Given the description of an element on the screen output the (x, y) to click on. 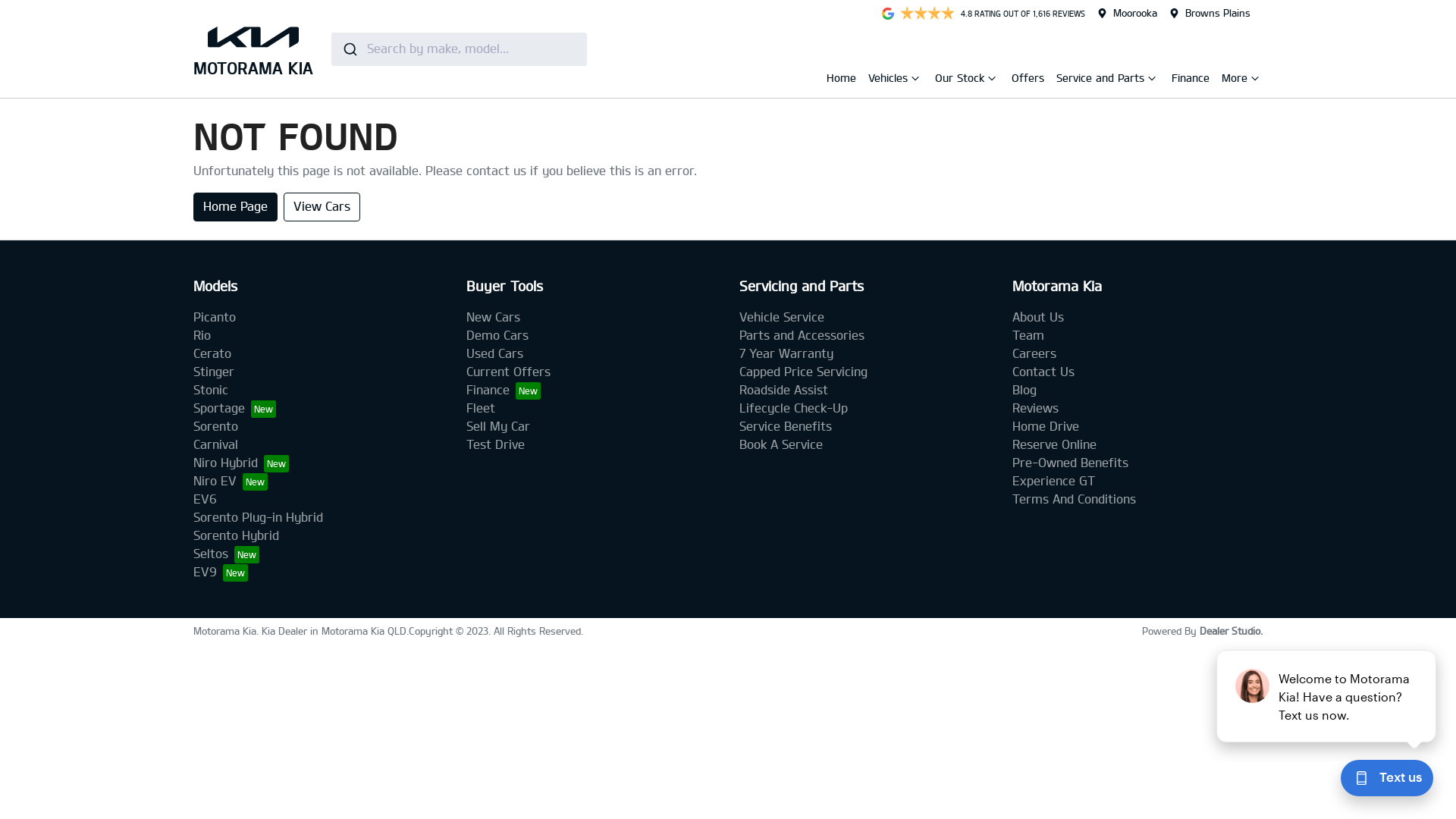
Used Cars Element type: text (494, 353)
Stinger Element type: text (213, 371)
Picanto Element type: text (214, 317)
Blog Element type: text (1024, 389)
Service and Parts Element type: text (1101, 80)
EV6 Element type: text (204, 499)
Seltos Element type: text (226, 553)
Reviews Element type: text (1035, 408)
Reserve Online Element type: text (1054, 444)
Capped Price Servicing Element type: text (803, 371)
Niro EV Element type: text (230, 480)
Terms And Conditions Element type: text (1073, 499)
Vehicle Service Element type: text (781, 317)
Rio Element type: text (201, 335)
7 Year Warranty Element type: text (786, 353)
Sorento Hybrid Element type: text (236, 535)
EV9 Element type: text (220, 571)
New Cars Element type: text (493, 317)
MOTORAMA KIA Element type: text (253, 48)
Service Benefits Element type: text (785, 426)
About Us Element type: text (1037, 317)
Browns Plains Element type: text (1217, 12)
Finance Element type: text (1190, 77)
Carnival Element type: text (215, 444)
Experience GT Element type: text (1053, 480)
Cerato Element type: text (212, 353)
Contact Us Element type: text (1043, 371)
Parts and Accessories Element type: text (801, 335)
Submit Element type: hover (349, 48)
Team Element type: text (1028, 335)
Sell My Car Element type: text (498, 426)
Niro Hybrid Element type: text (240, 462)
Roadside Assist Element type: text (783, 389)
Stonic Element type: text (210, 389)
Home Element type: text (841, 77)
Test Drive Element type: text (495, 444)
Our Stock Element type: text (960, 80)
Sorento Plug-in Hybrid Element type: text (258, 517)
Vehicles Element type: text (889, 80)
Offers Element type: text (1027, 77)
Home Drive Element type: text (1045, 426)
Lifecycle Check-Up Element type: text (793, 408)
Pre-Owned Benefits Element type: text (1070, 462)
Fleet Element type: text (480, 408)
Dealer Studio. Element type: text (1230, 631)
View Cars Element type: text (321, 206)
Demo Cars Element type: text (497, 335)
Moorooka Element type: text (1135, 12)
Finance Element type: text (503, 389)
Sorento Element type: text (215, 426)
Careers Element type: text (1034, 353)
Current Offers Element type: text (508, 371)
Sportage Element type: text (234, 408)
Book A Service Element type: text (780, 444)
Home Page Element type: text (235, 206)
More Element type: text (1235, 80)
